Given the description of an element on the screen output the (x, y) to click on. 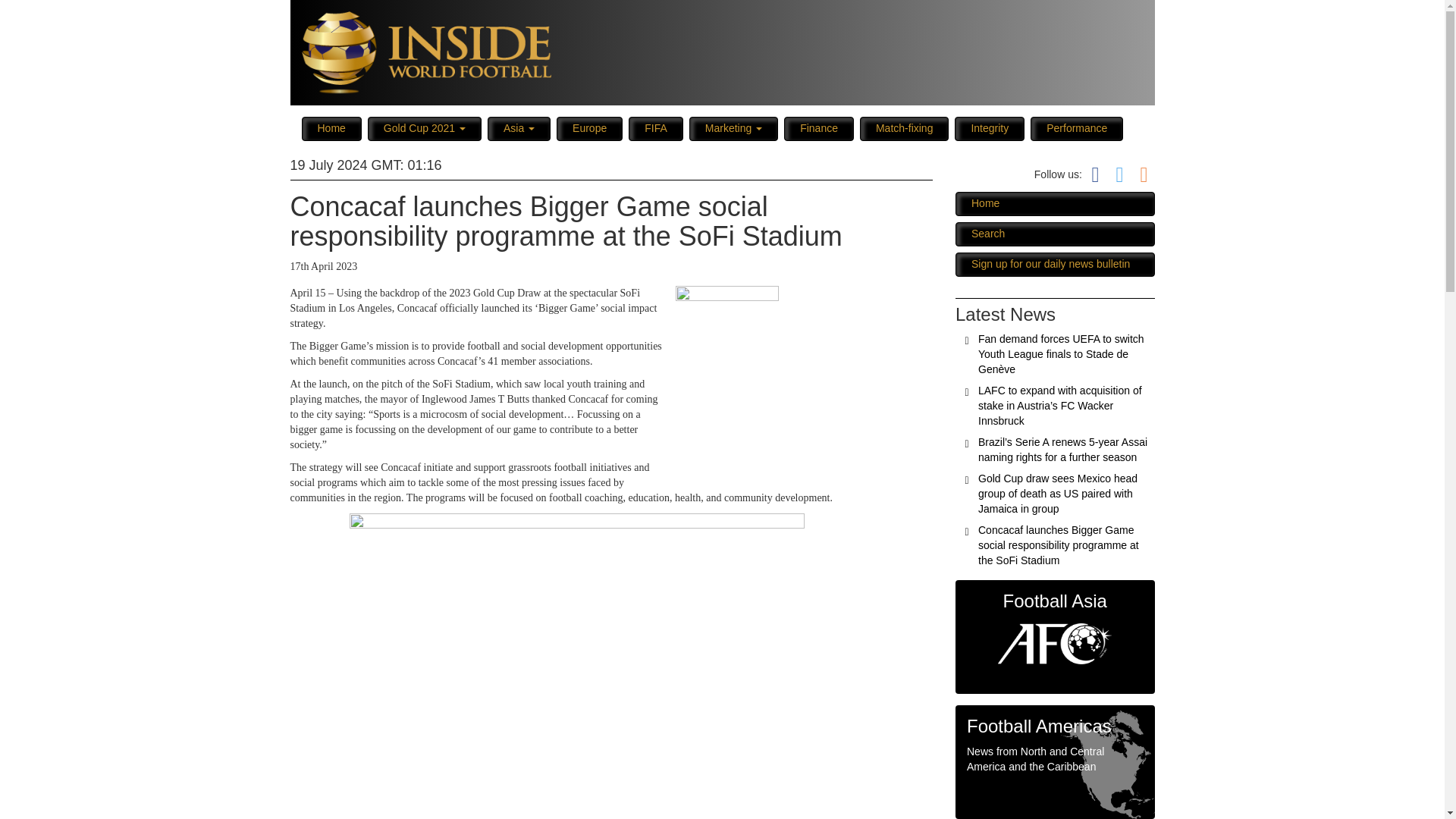
Marketing (732, 128)
Asia (518, 128)
Marketing (732, 128)
Home (331, 128)
Performance (1076, 128)
Integrity (990, 128)
FIFA (655, 128)
Finance (818, 128)
Home (331, 128)
Search (1054, 233)
Match-fixing (904, 128)
Gold Cup 2021 (424, 128)
